Given the description of an element on the screen output the (x, y) to click on. 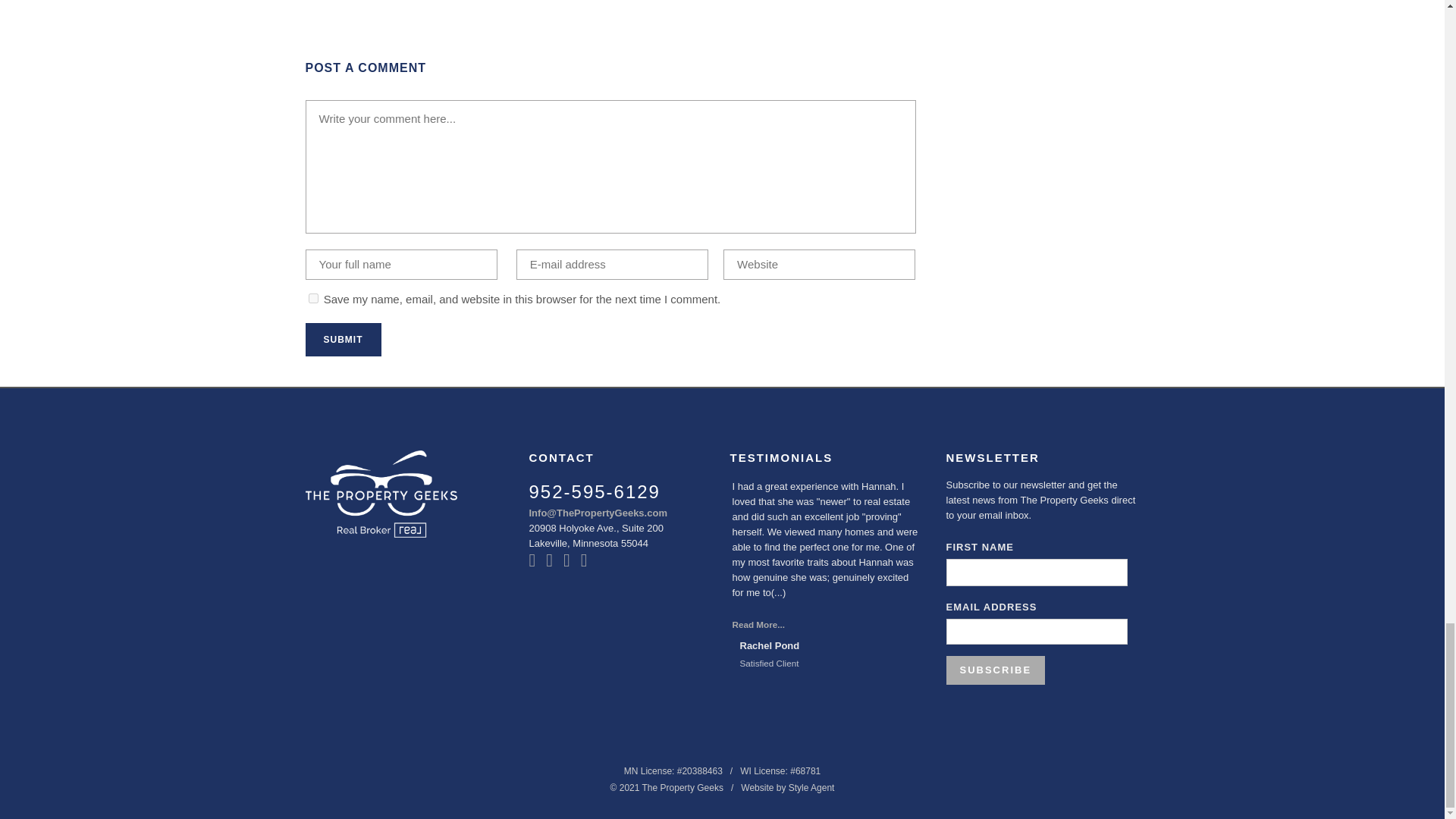
Subscribe (995, 670)
Submit (342, 339)
yes (312, 298)
